Given the description of an element on the screen output the (x, y) to click on. 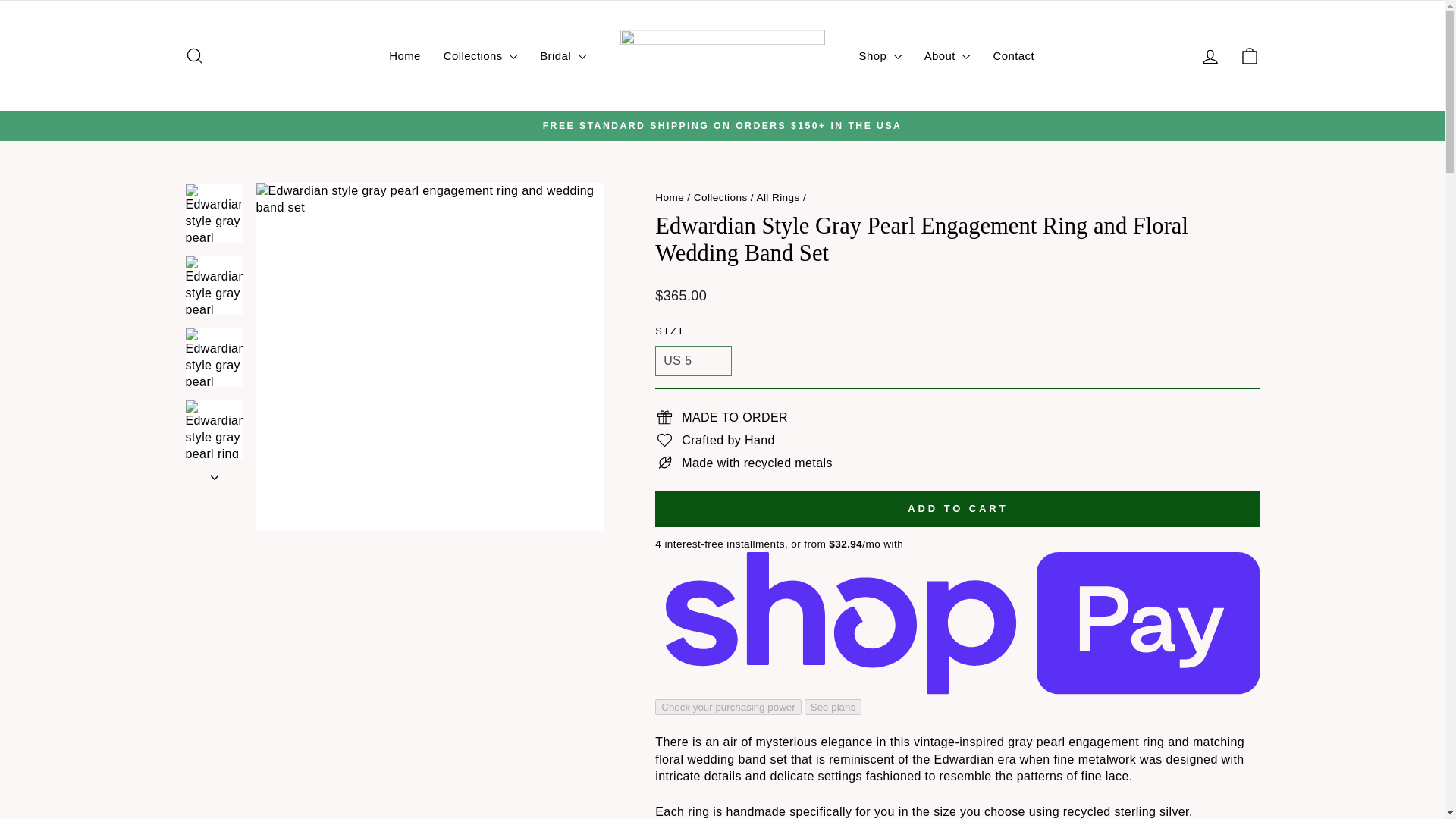
Back to the frontpage (669, 196)
account (1210, 56)
icon-bag-minimal (1249, 55)
icon-search (194, 55)
